Given the description of an element on the screen output the (x, y) to click on. 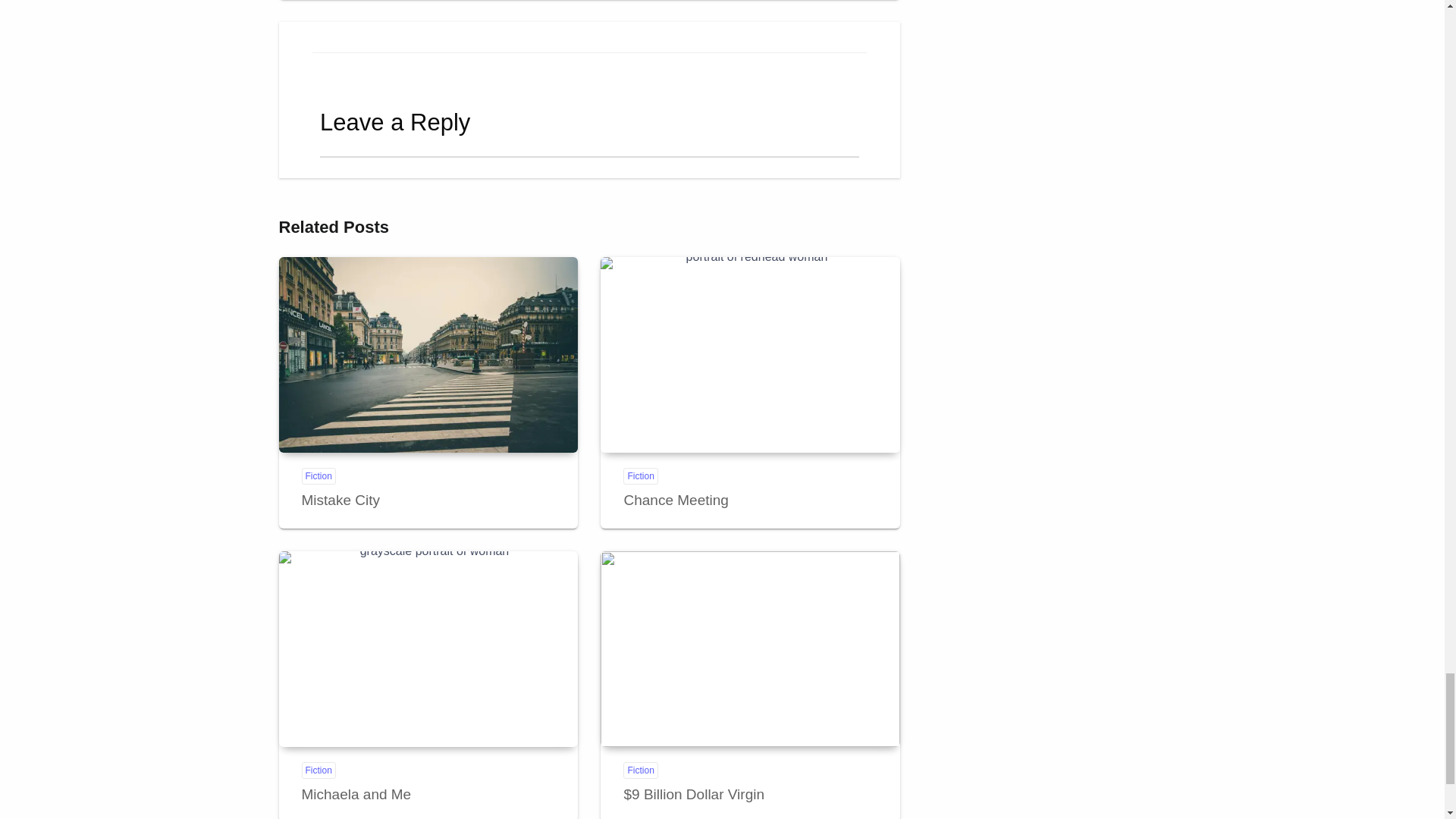
Fiction (640, 475)
Chance Meeting (749, 354)
Chance Meeting (675, 499)
Mistake City (428, 354)
Michaela and Me (356, 794)
Mistake City (340, 499)
Michaela and Me (428, 648)
Fiction (318, 475)
Fiction (318, 770)
